Given the description of an element on the screen output the (x, y) to click on. 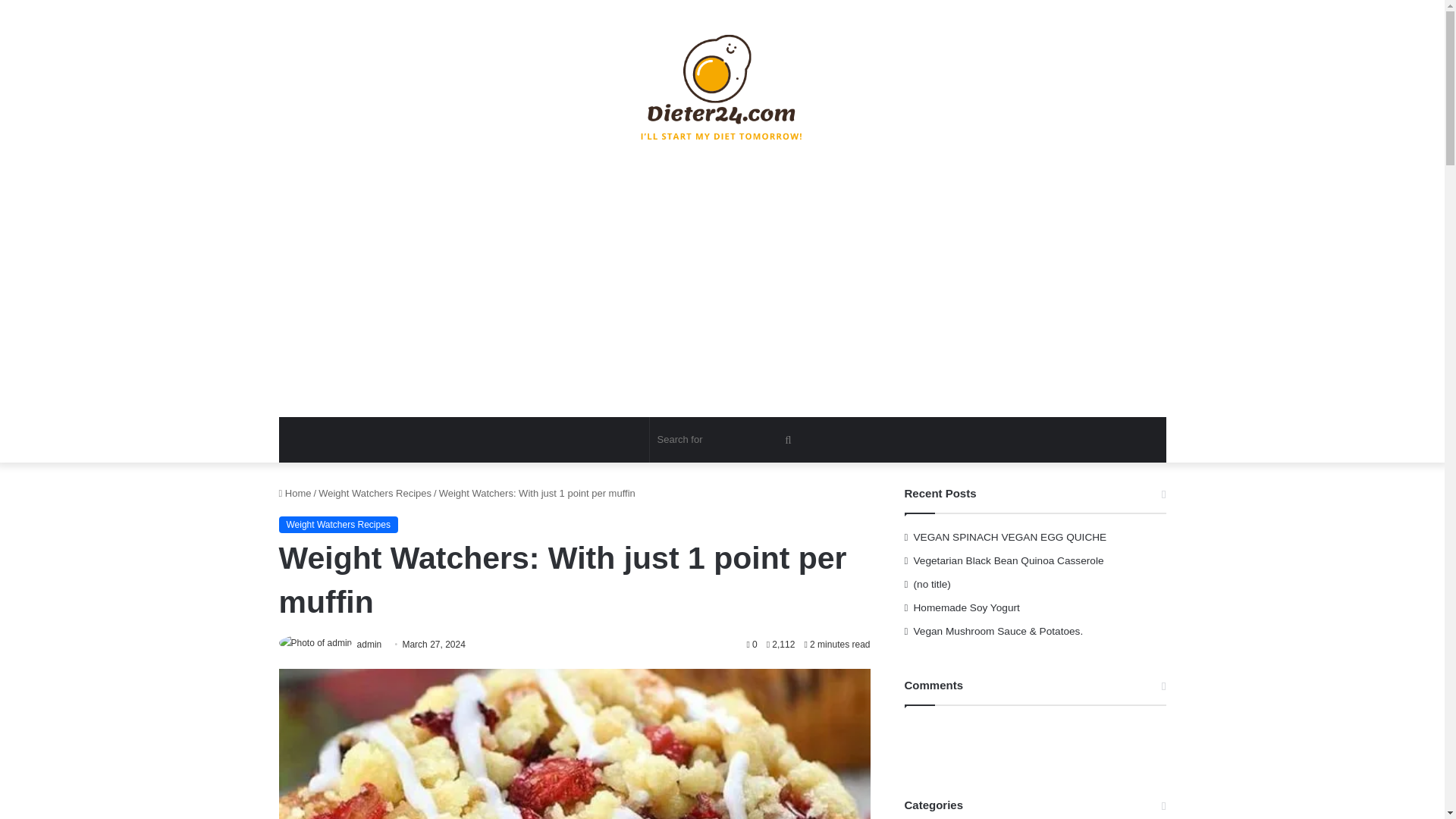
Search for (726, 439)
Homemade Soy Yogurt (967, 607)
Vegetarian Black Bean Quinoa Casserole (1008, 560)
Weight Watchers Recipes (338, 524)
Home (295, 492)
Dieter24 (721, 87)
Weight Watchers Recipes (374, 492)
VEGAN SPINACH VEGAN EGG QUICHE (1010, 536)
